Given the description of an element on the screen output the (x, y) to click on. 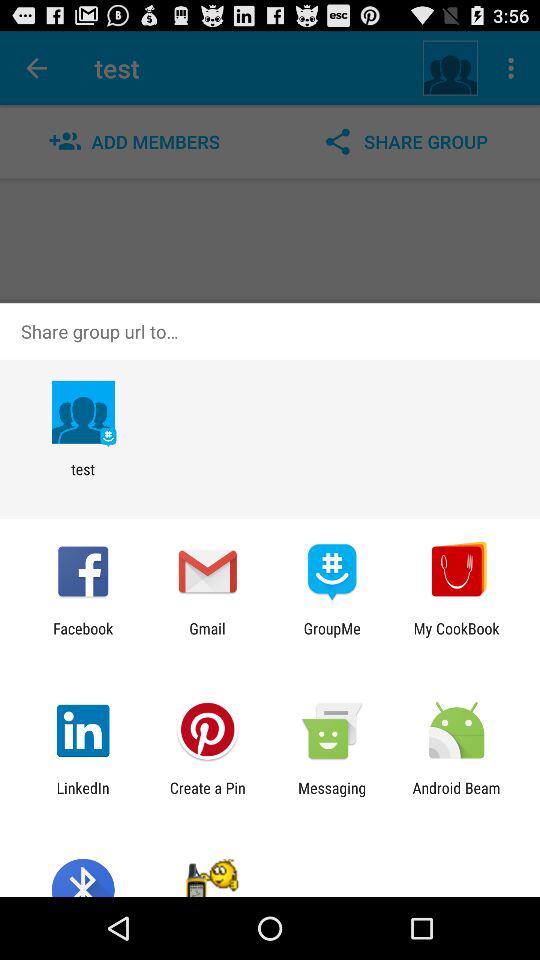
flip until android beam icon (456, 796)
